Given the description of an element on the screen output the (x, y) to click on. 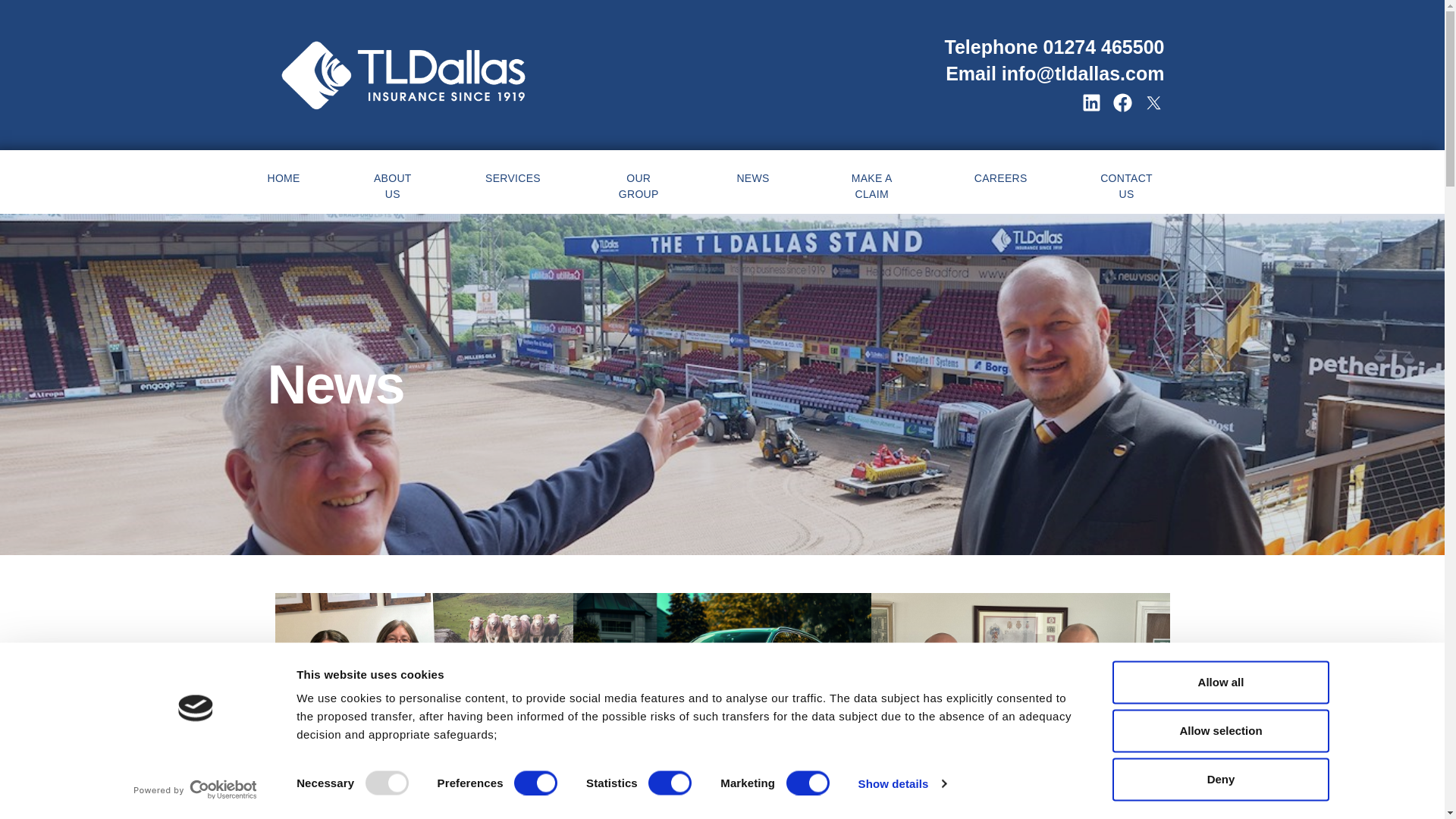
Allow all (1219, 682)
HOME (282, 176)
SERVICES (512, 176)
Telephone 01274 465500 (1053, 46)
Allow selection (1219, 731)
Deny (1219, 779)
Show details (900, 783)
ABOUT US (392, 184)
